Given the description of an element on the screen output the (x, y) to click on. 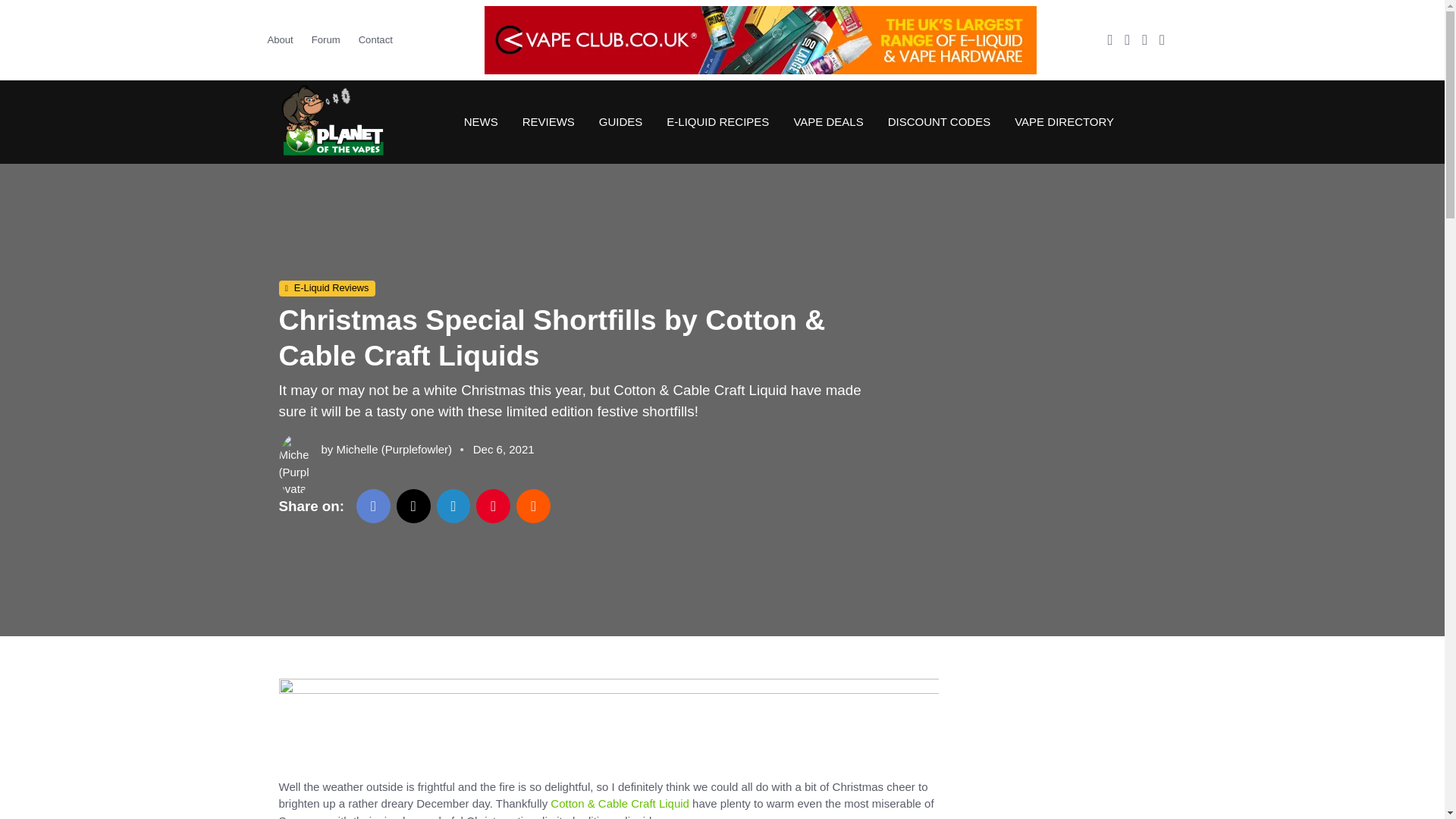
About (283, 39)
VAPE DIRECTORY (1058, 121)
DISCOUNT CODES (939, 121)
REVIEWS (548, 121)
VAPE DEALS (827, 121)
Forum (325, 39)
E-Liquid Reviews (327, 288)
E-LIQUID RECIPES (716, 121)
NEWS (481, 121)
